Given the description of an element on the screen output the (x, y) to click on. 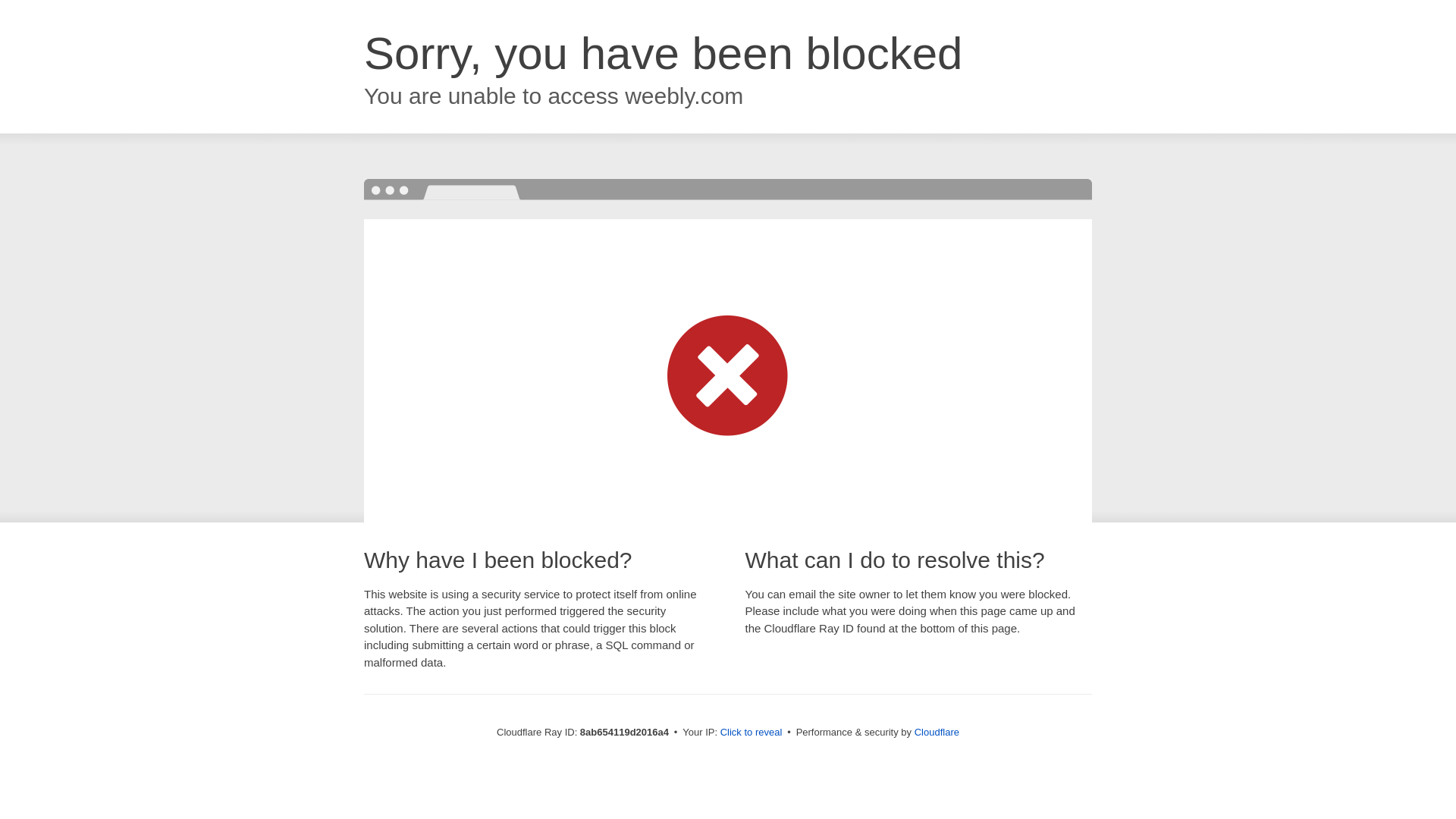
Cloudflare (936, 731)
Click to reveal (751, 732)
